Given the description of an element on the screen output the (x, y) to click on. 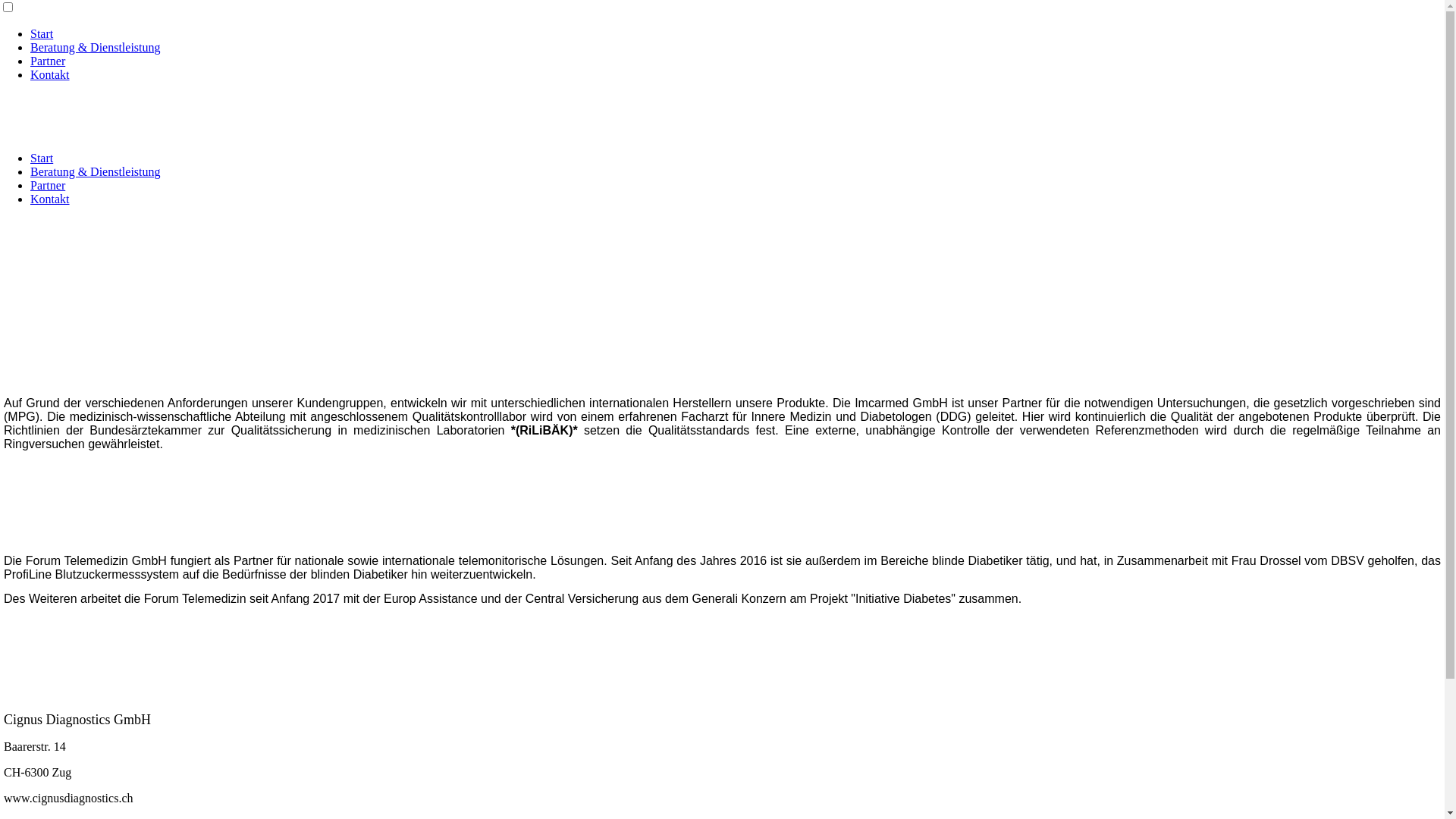
Kontakt Element type: text (49, 74)
Beratung & Dienstleistung Element type: text (95, 46)
Partner Element type: text (47, 184)
Start Element type: text (41, 33)
Kontakt Element type: text (49, 198)
Beratung & Dienstleistung Element type: text (95, 171)
Start Element type: text (41, 157)
Partner Element type: text (47, 60)
